Given the description of an element on the screen output the (x, y) to click on. 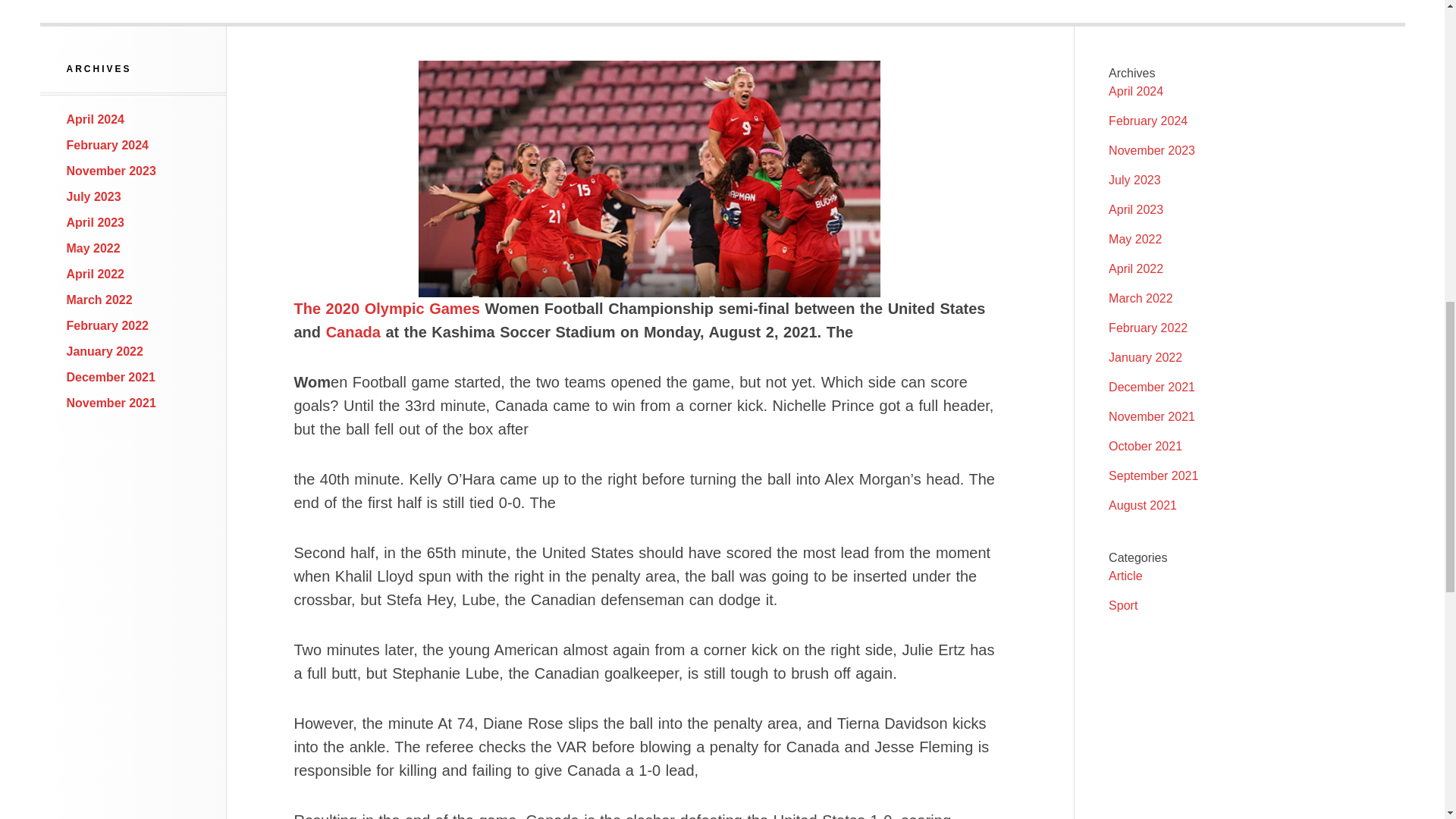
February 2024 (107, 144)
April 2024 (1135, 91)
April 2022 (1135, 268)
April 2024 (94, 119)
November 2021 (110, 402)
April 2023 (1135, 209)
May 2022 (93, 247)
July 2023 (1134, 179)
April 2022 (94, 273)
January 2022 (104, 350)
February 2022 (107, 325)
March 2022 (99, 299)
May 2022 (1134, 238)
February 2024 (1148, 120)
The 2020 Olympic Games (387, 308)
